Given the description of an element on the screen output the (x, y) to click on. 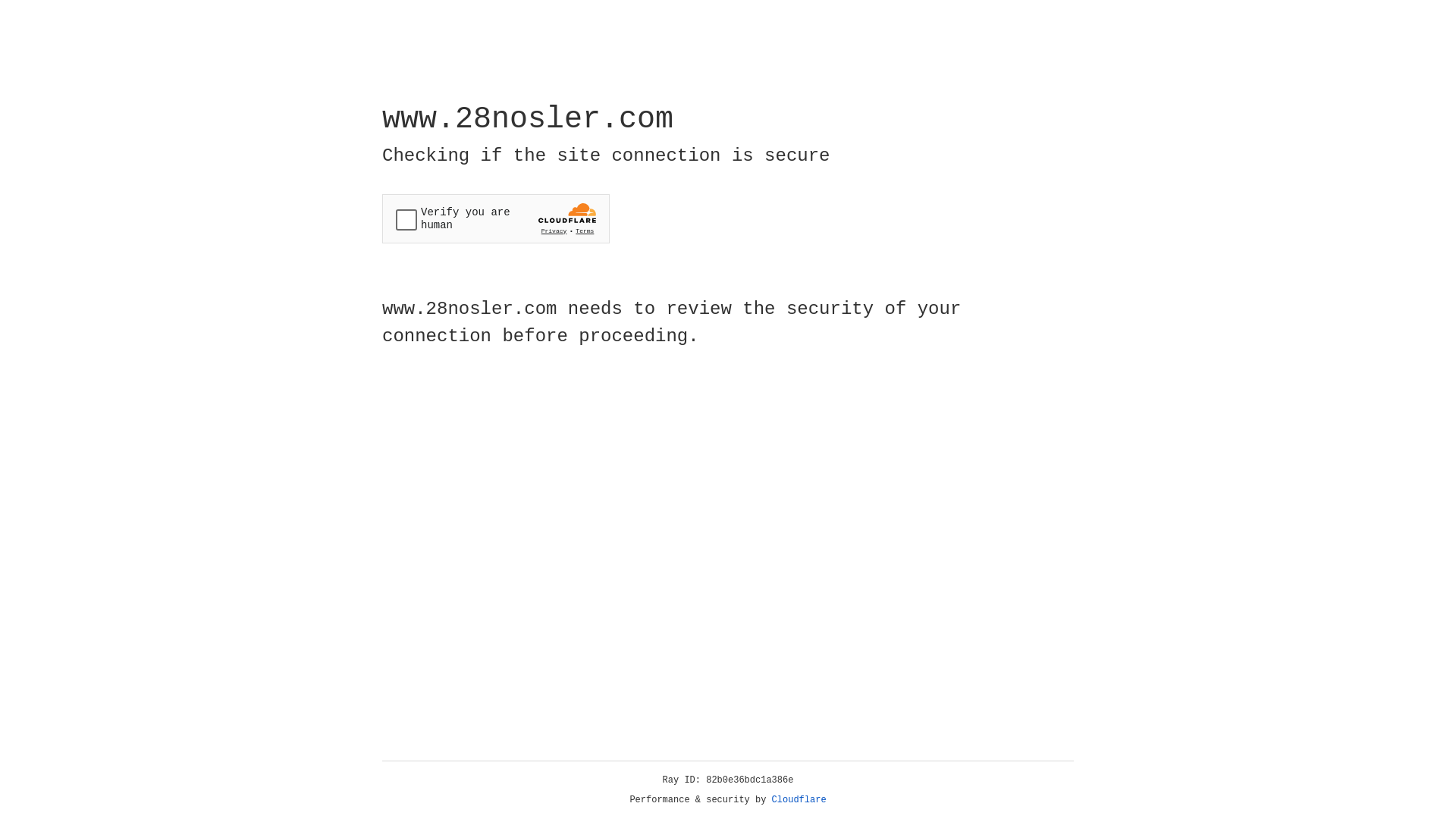
Widget containing a Cloudflare security challenge Element type: hover (495, 218)
Cloudflare Element type: text (798, 799)
